Given the description of an element on the screen output the (x, y) to click on. 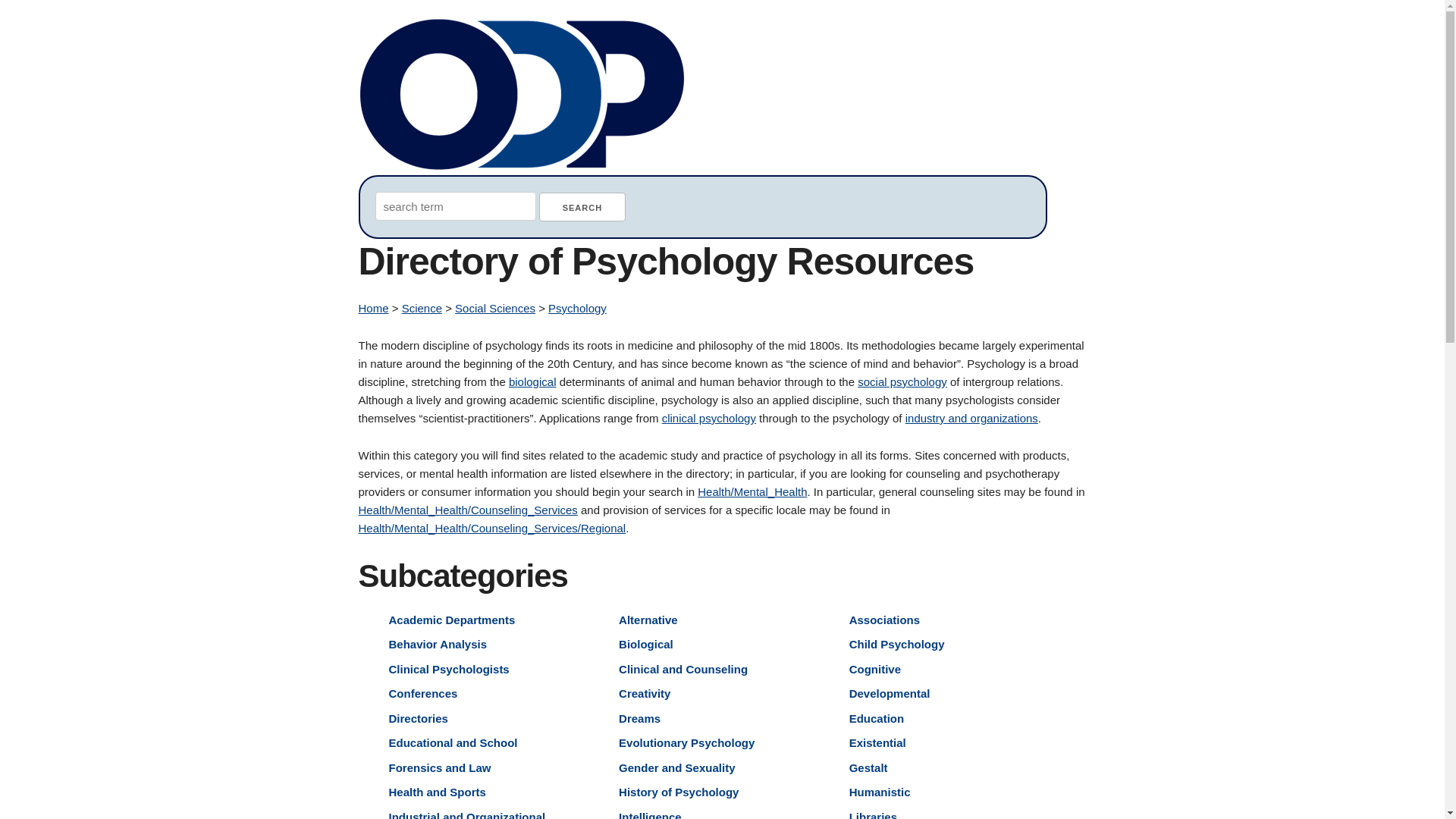
Search (582, 206)
clinical psychology (708, 418)
Dreams (639, 717)
Educational and School (452, 742)
industry and organizations (971, 418)
Forensics and Law (439, 767)
Existential (876, 742)
Gestalt (868, 767)
Academic Departments (451, 618)
Cognitive (874, 668)
Humanistic (879, 791)
Search (582, 206)
Behavior Analysis (437, 644)
Biological (645, 644)
History of Psychology (678, 791)
